Given the description of an element on the screen output the (x, y) to click on. 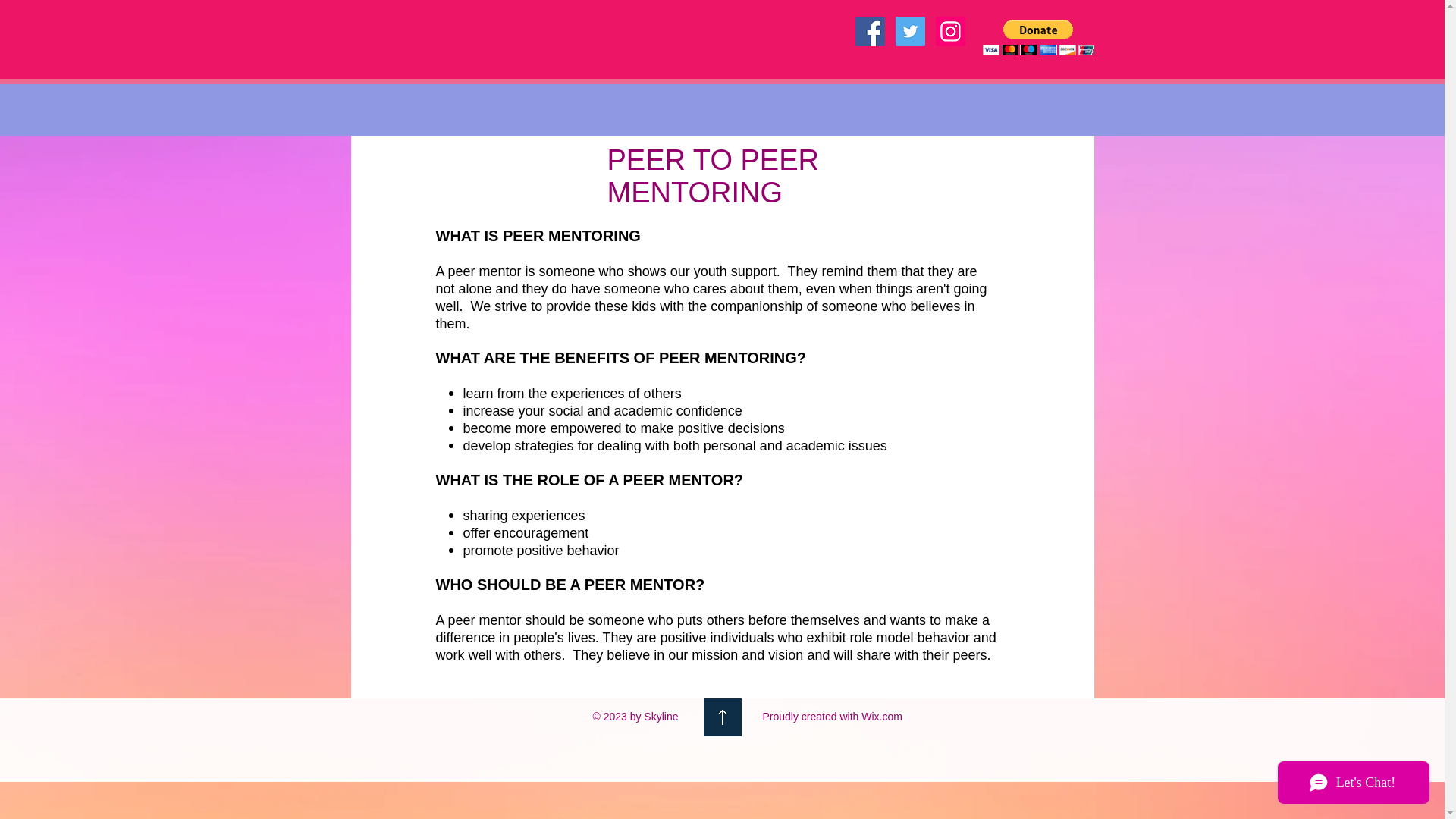
Wix.com (881, 716)
